Given the description of an element on the screen output the (x, y) to click on. 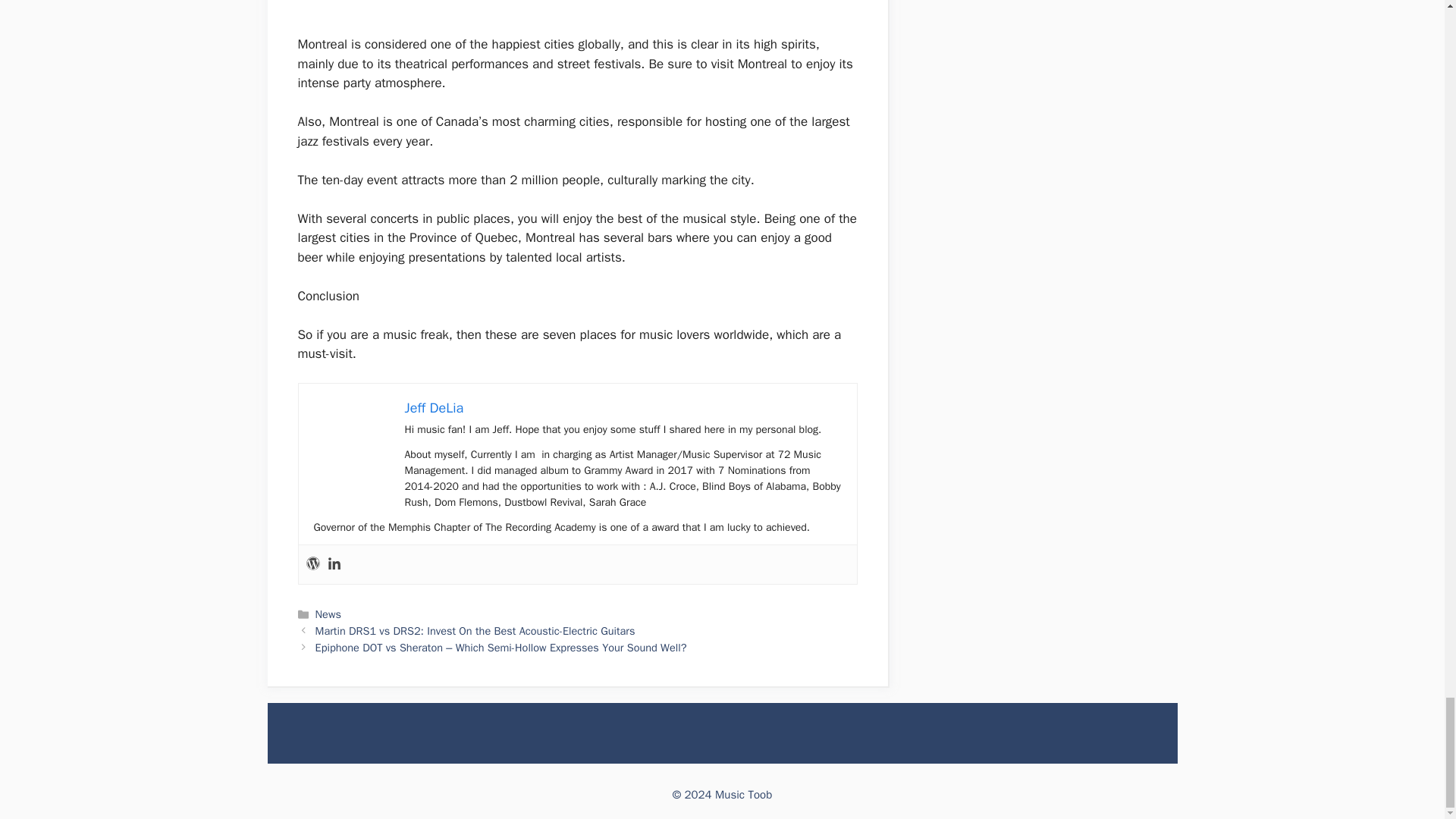
News (327, 613)
Jeff DeLia (434, 407)
Next (501, 647)
Previous (474, 631)
